Given the description of an element on the screen output the (x, y) to click on. 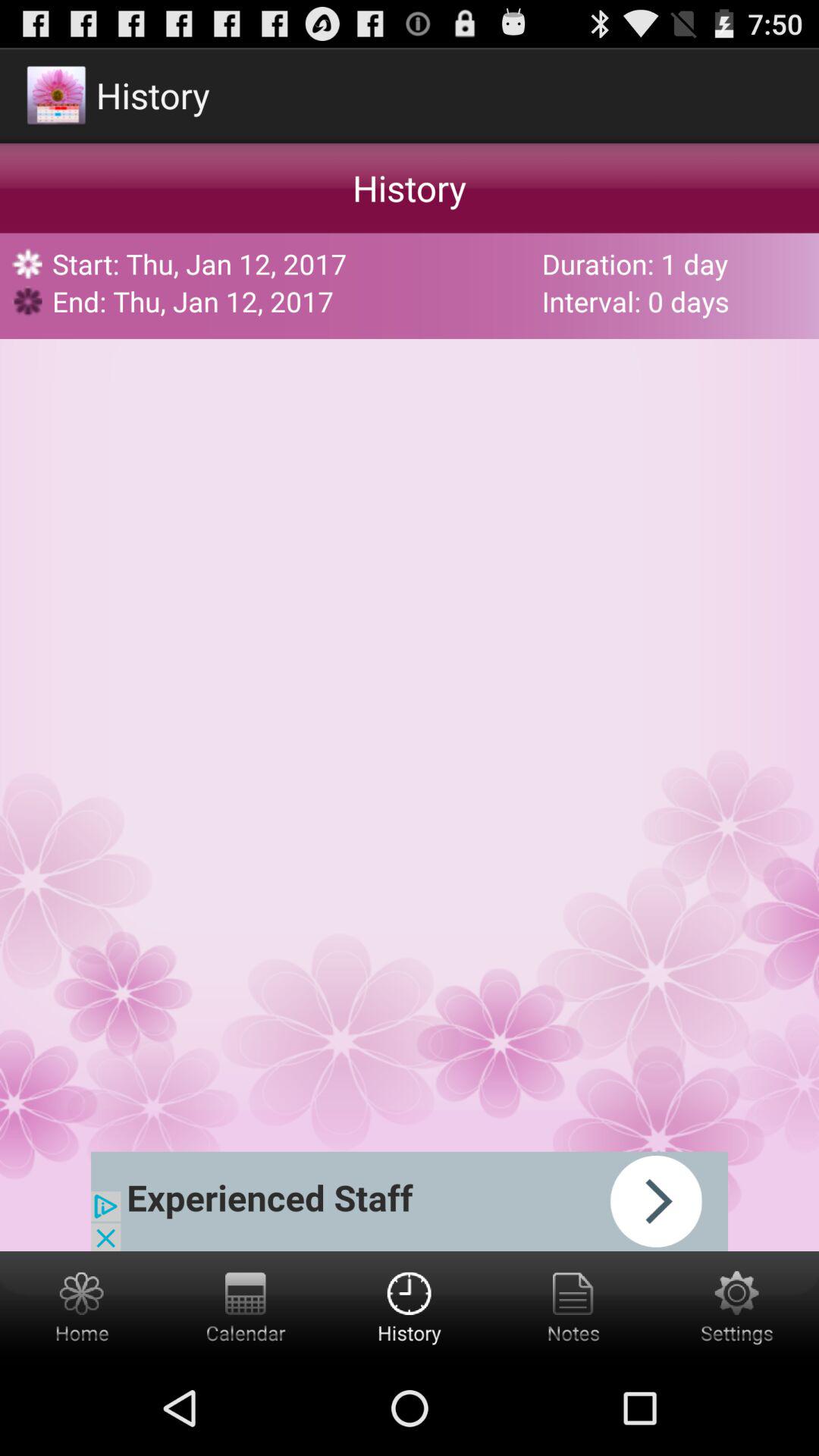
advertisement (409, 1201)
